Given the description of an element on the screen output the (x, y) to click on. 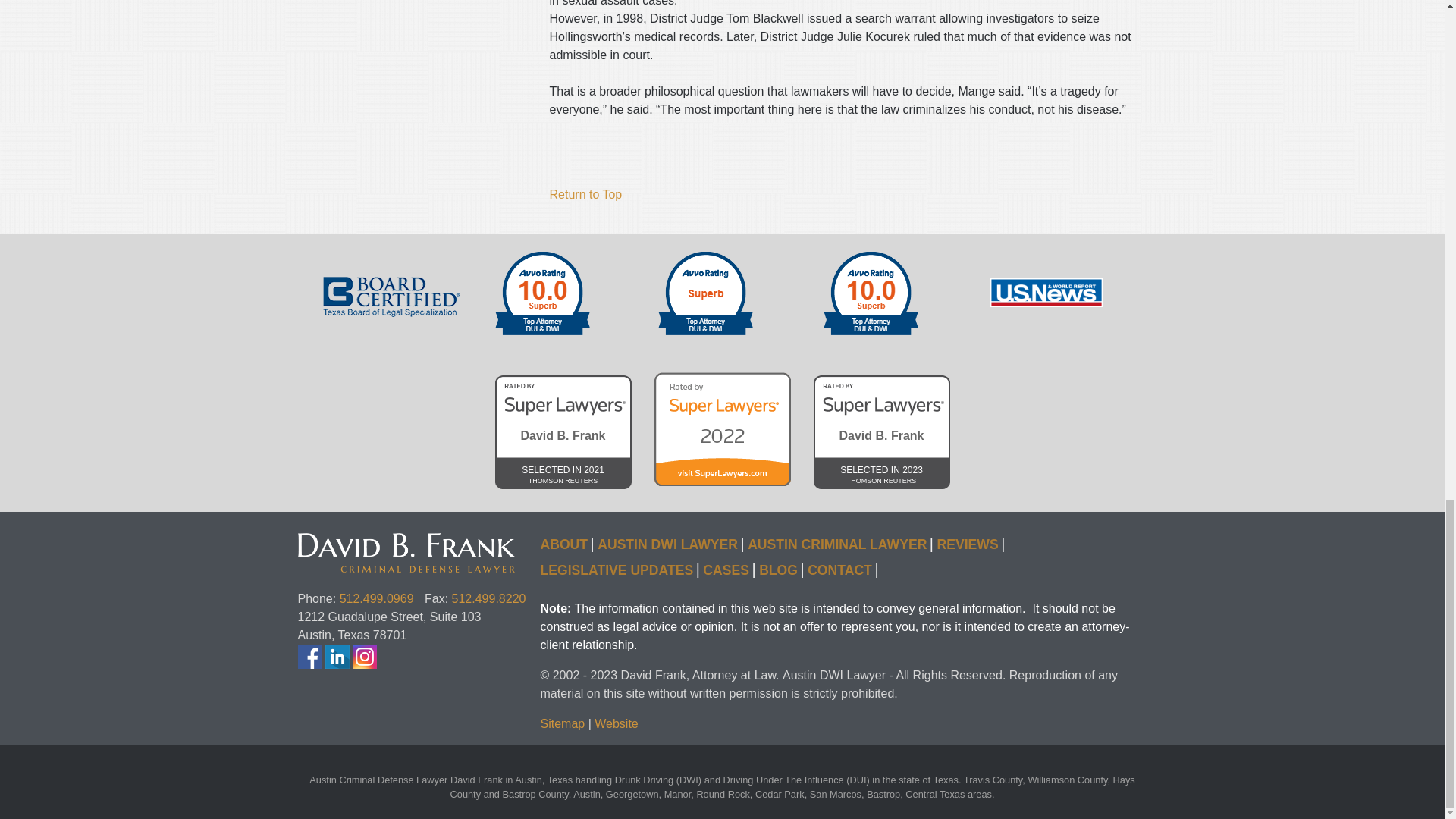
Austin Criminal Defense Lawyer - DWI (562, 431)
Austin Criminal Defense Lawyer - facebook (539, 295)
David Frank (309, 656)
Austin Criminal Defense Lawyer (418, 542)
512.499.0969 (867, 295)
Return to Top (376, 598)
Austin Criminal Defense Lawyer (584, 194)
Austin Criminal Defense Lawyer - facebook (391, 296)
